Given the description of an element on the screen output the (x, y) to click on. 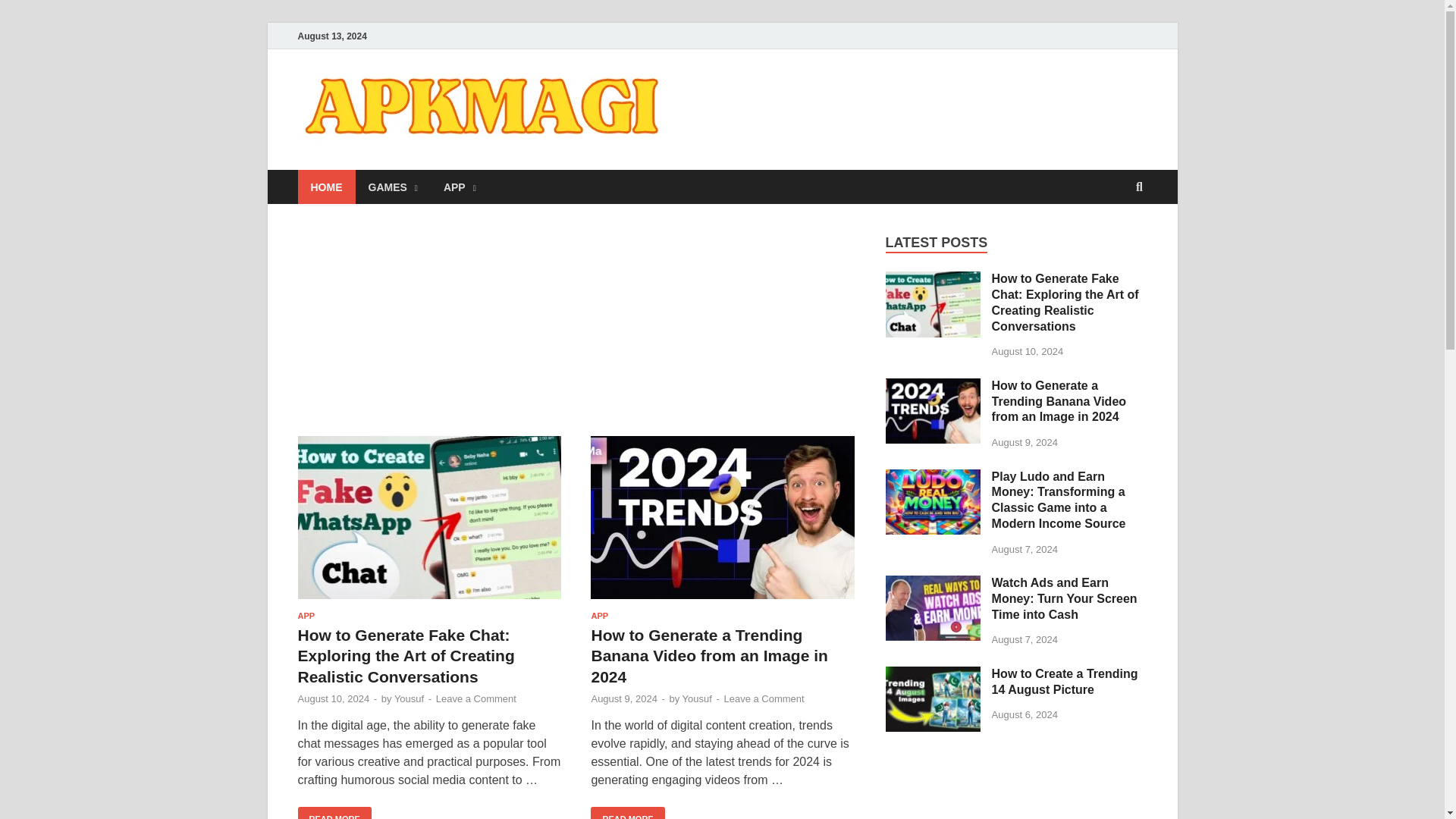
APP (459, 186)
Yousuf (408, 698)
APP (305, 614)
ApkMagi.com (772, 100)
August 10, 2024 (333, 698)
